Given the description of an element on the screen output the (x, y) to click on. 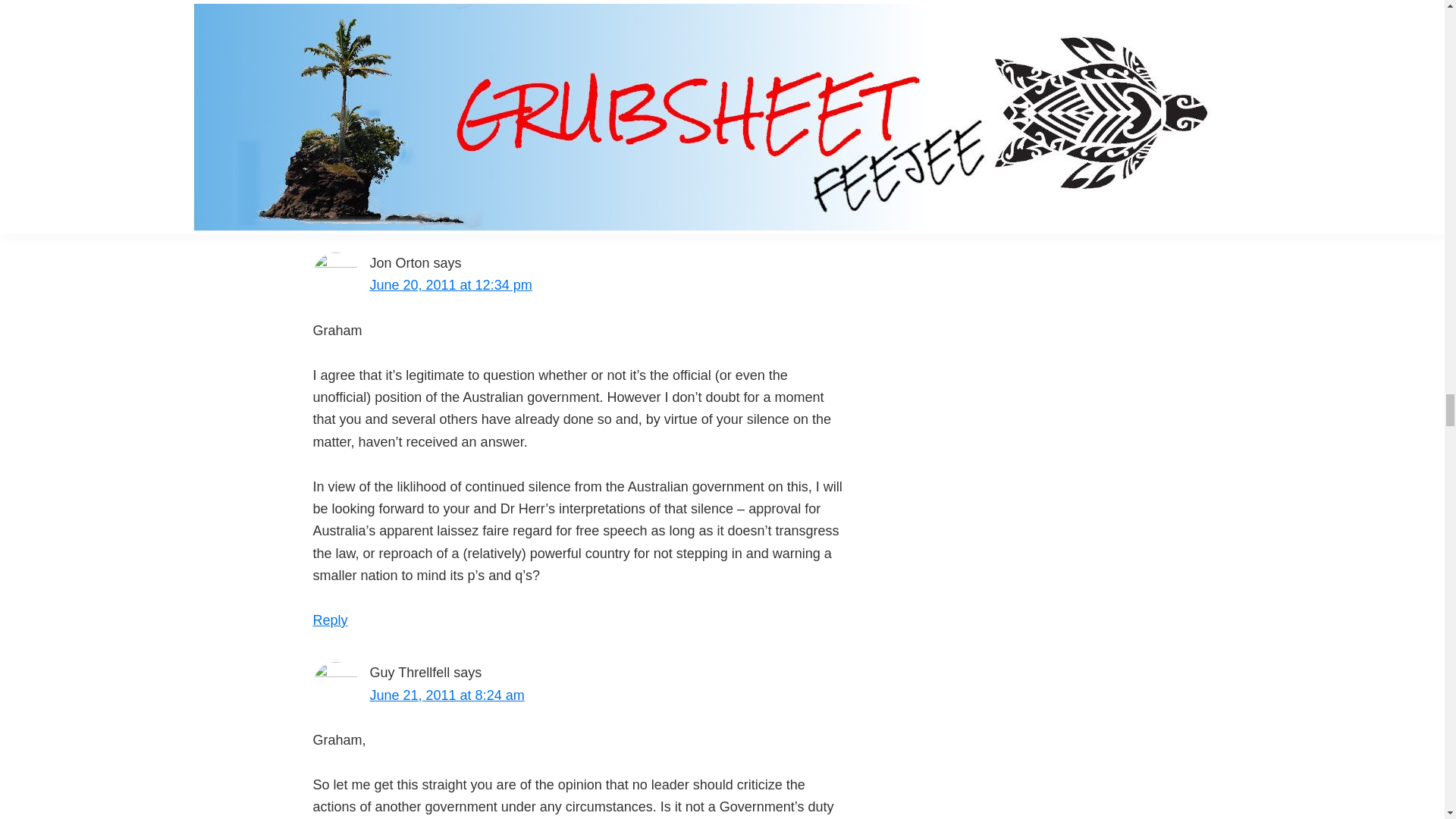
Reply (330, 620)
June 20, 2011 at 12:34 pm (450, 284)
June 21, 2011 at 8:24 am (446, 694)
Reply (351, 210)
